Given the description of an element on the screen output the (x, y) to click on. 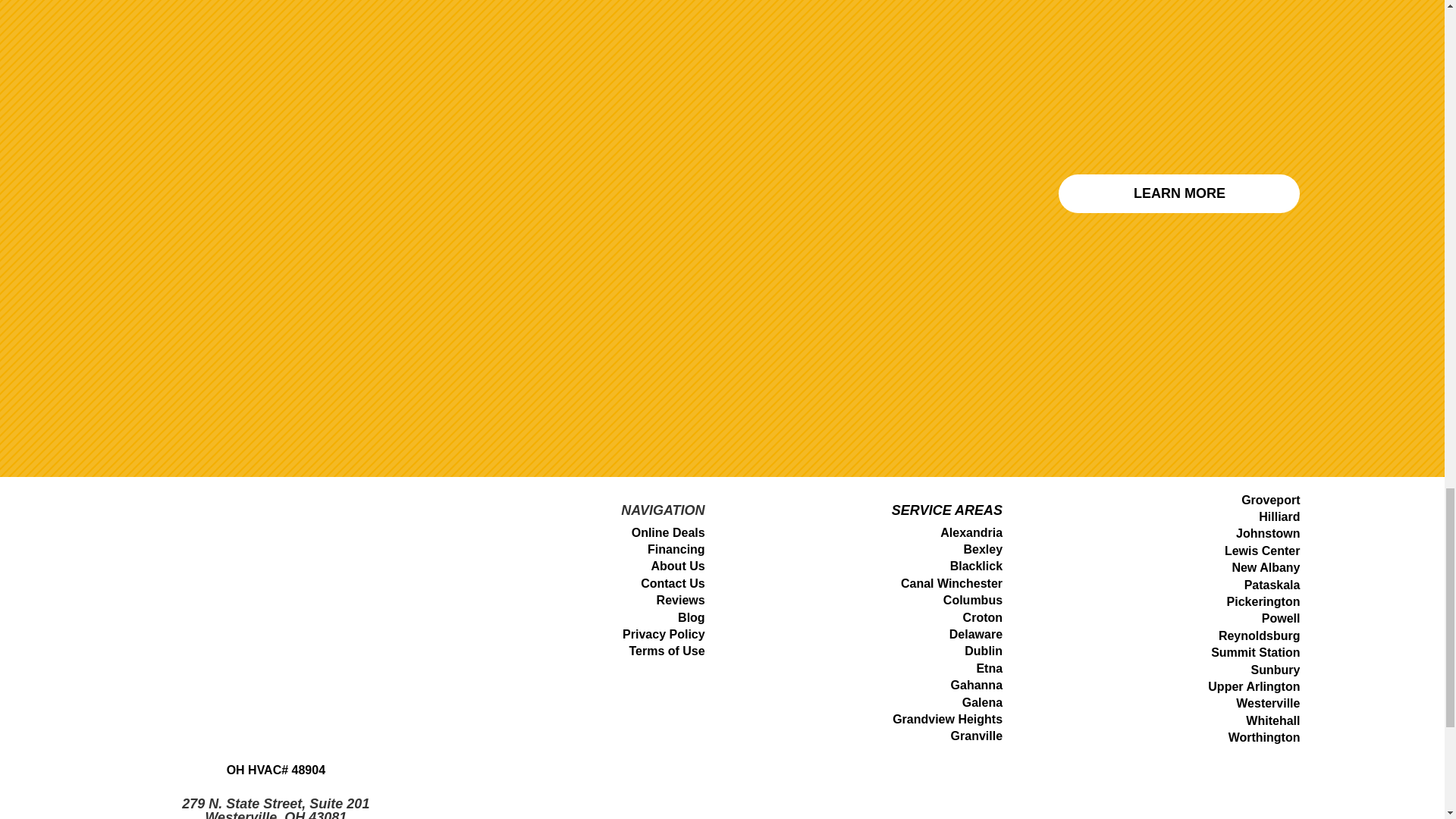
Contact Us (672, 583)
Financing (675, 549)
Reviews (680, 599)
Blog (691, 617)
Westerville, OH 43081 (275, 814)
About Us (677, 565)
Online Deals (667, 532)
279 N. State Street, Suite 201 (275, 803)
